Given the description of an element on the screen output the (x, y) to click on. 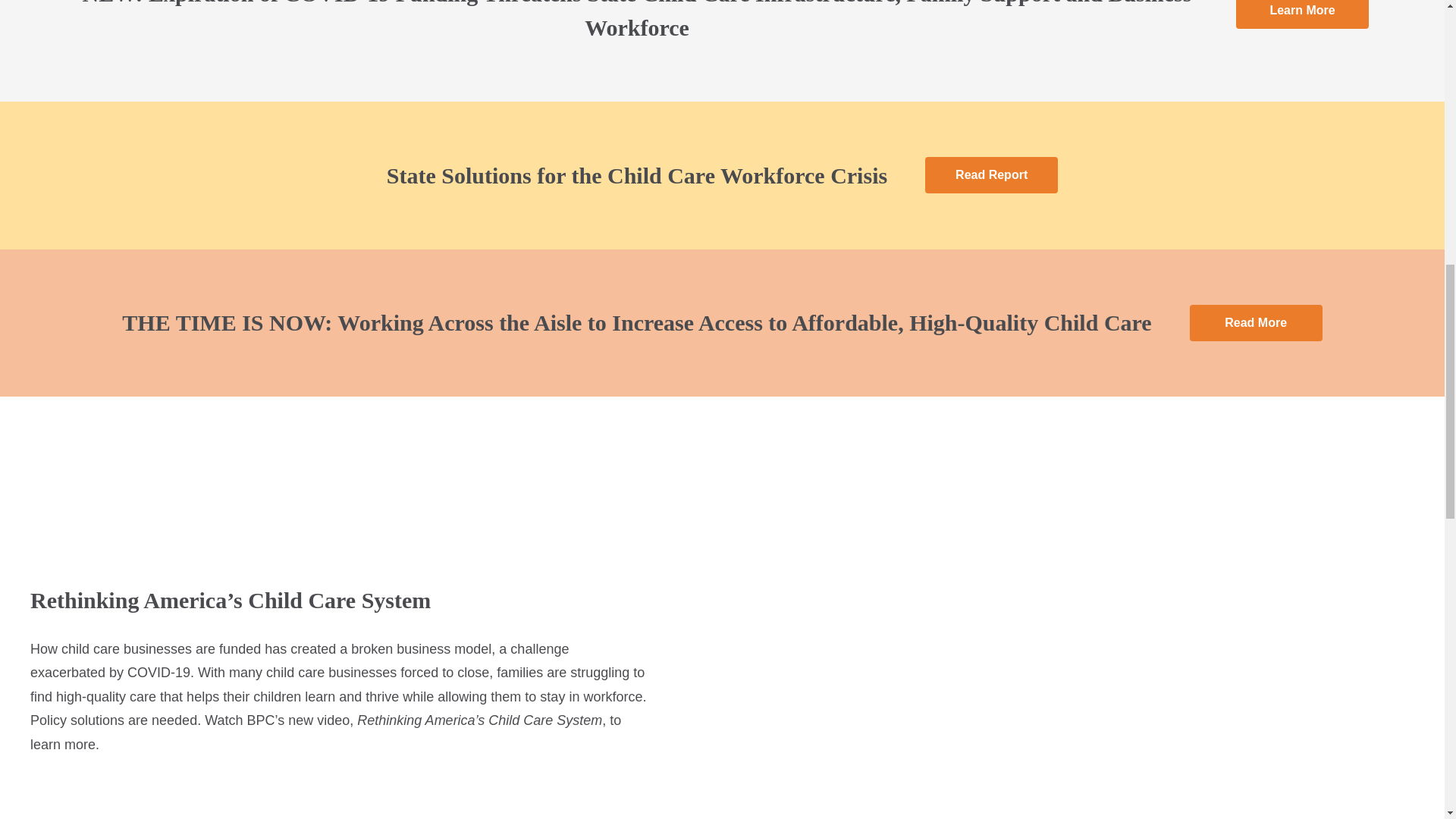
Learn More (1302, 14)
Read More (1255, 322)
Read Report (991, 175)
